Given the description of an element on the screen output the (x, y) to click on. 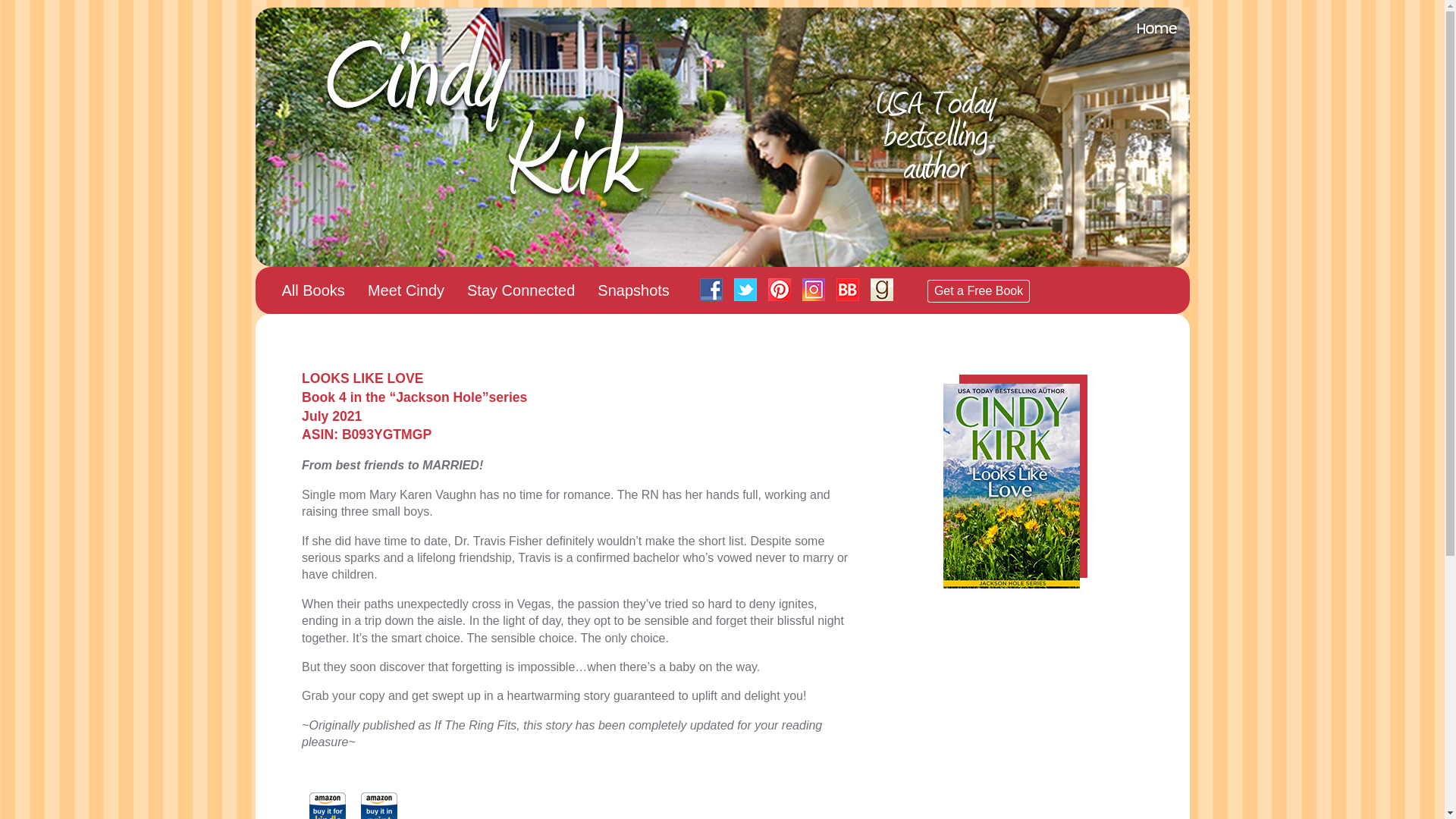
Get a Free Book (978, 291)
